Given the description of an element on the screen output the (x, y) to click on. 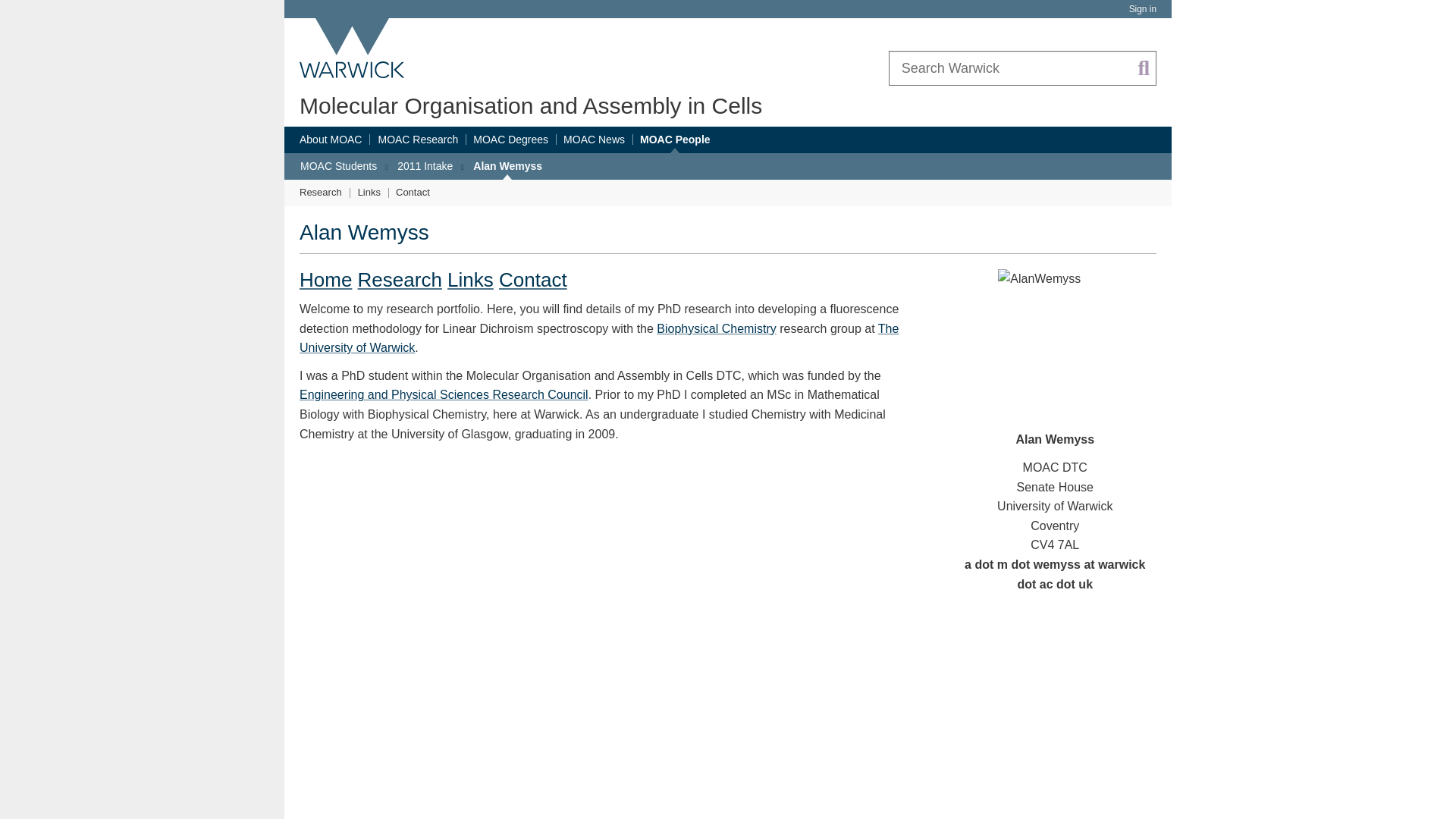
Contact (533, 279)
MOAC News (593, 139)
Links (469, 279)
MOAC Degrees (510, 139)
MOAC People (675, 139)
Sign in (1142, 9)
About MOAC (330, 139)
2011 Intake (424, 166)
Home (325, 279)
MOAC Research (417, 139)
